Given the description of an element on the screen output the (x, y) to click on. 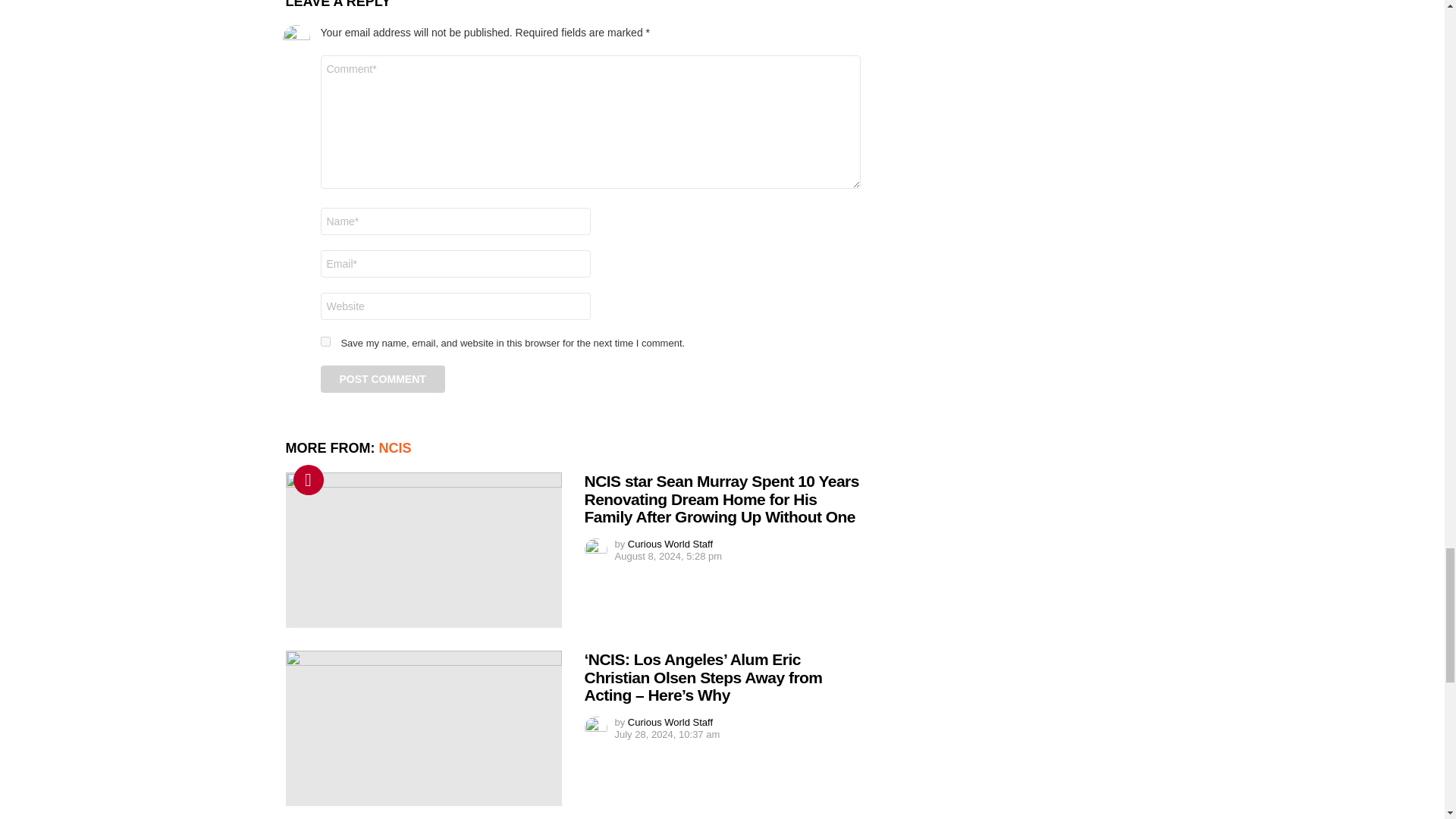
yes (325, 341)
NCIS (395, 447)
Posts by Curious World Staff (670, 543)
Post Comment (382, 379)
Curious World Staff (670, 543)
Post Comment (382, 379)
Curious World Staff (670, 722)
Trending (307, 480)
